Given the description of an element on the screen output the (x, y) to click on. 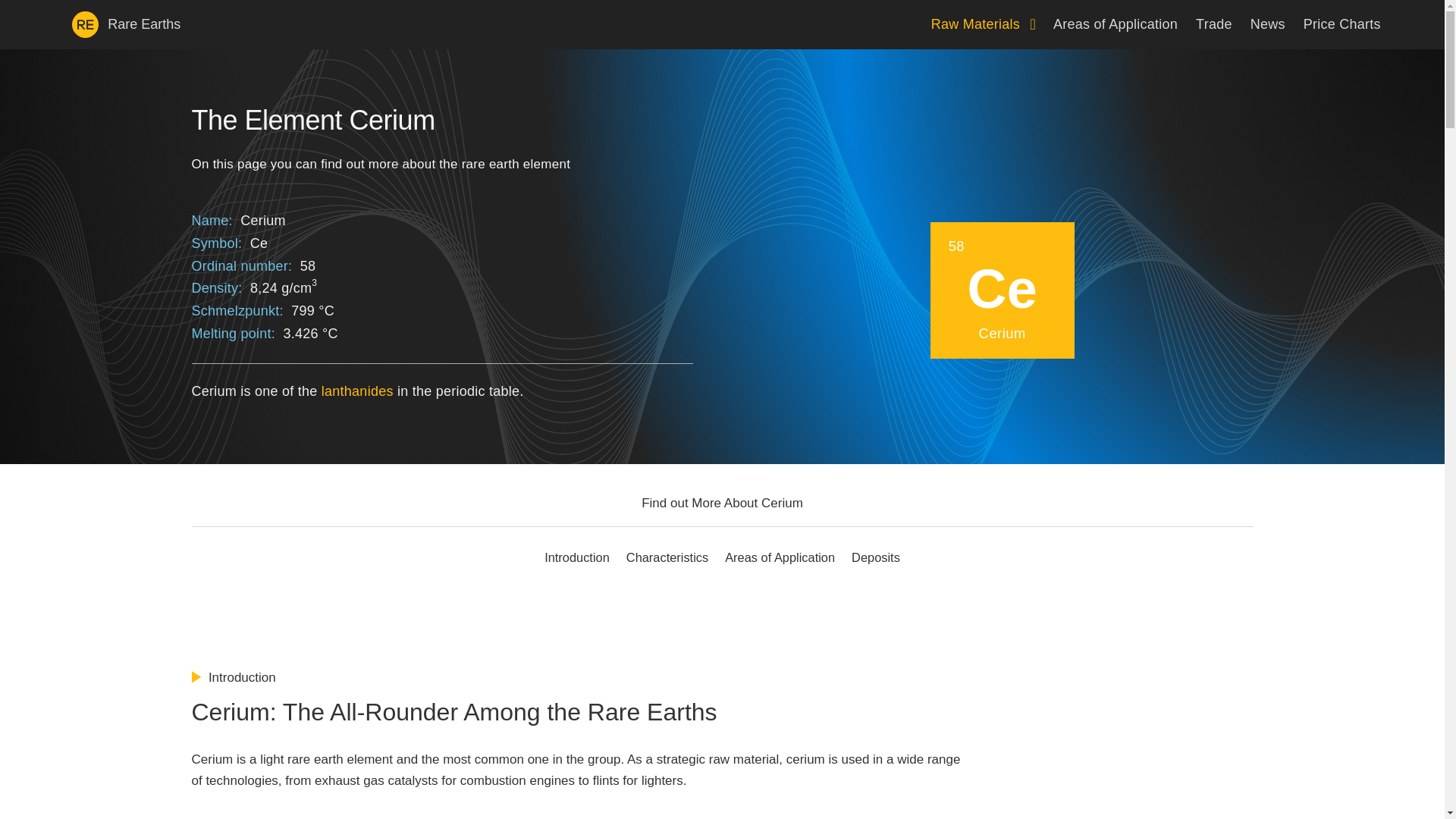
Areas of Application (1114, 24)
Trade (1213, 24)
Price Charts (1341, 24)
Raw Materials (983, 24)
News (1267, 24)
